Given the description of an element on the screen output the (x, y) to click on. 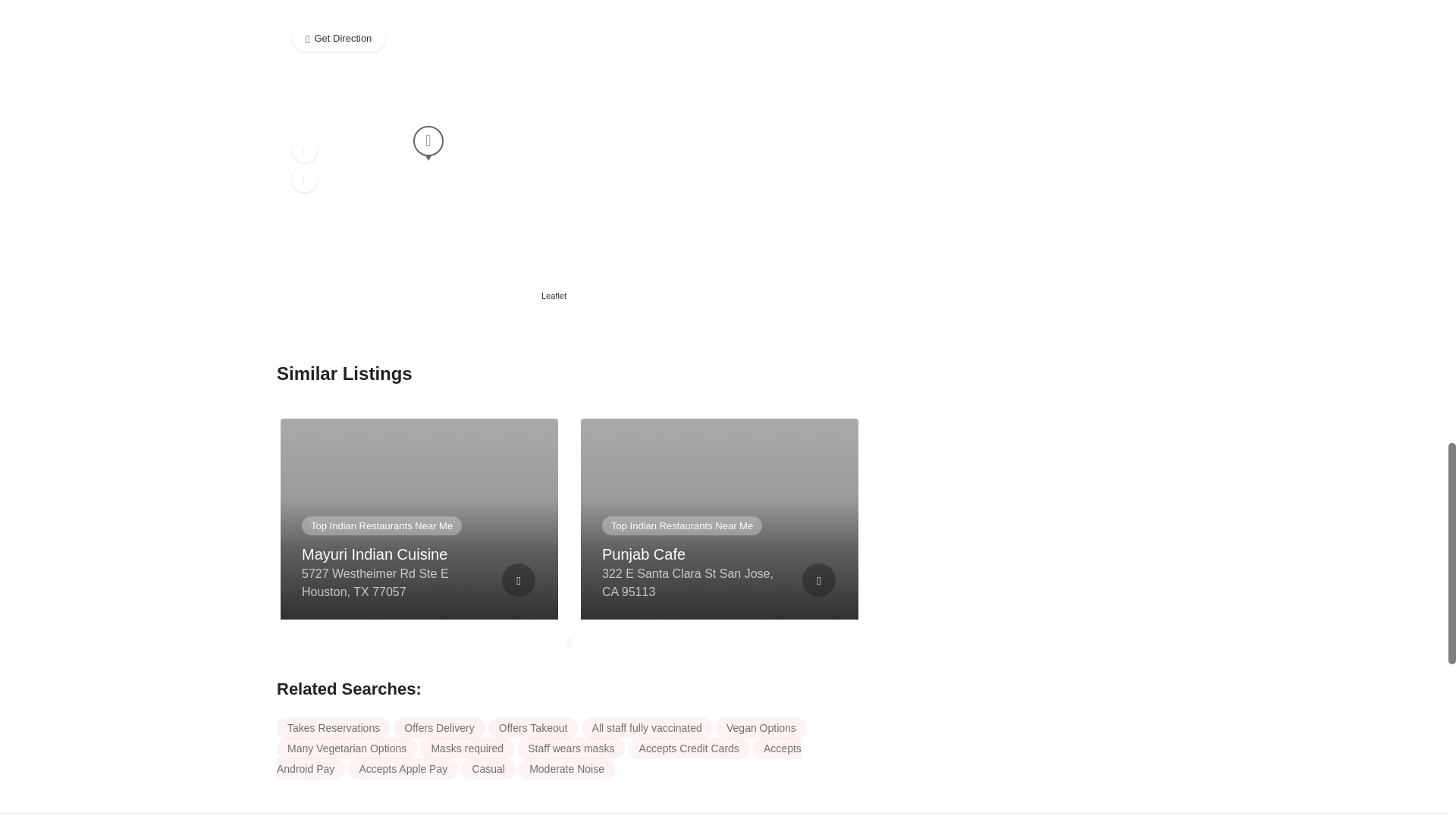
Zoom in (304, 149)
Zoom out (304, 179)
A JS library for interactive maps (553, 295)
